Given the description of an element on the screen output the (x, y) to click on. 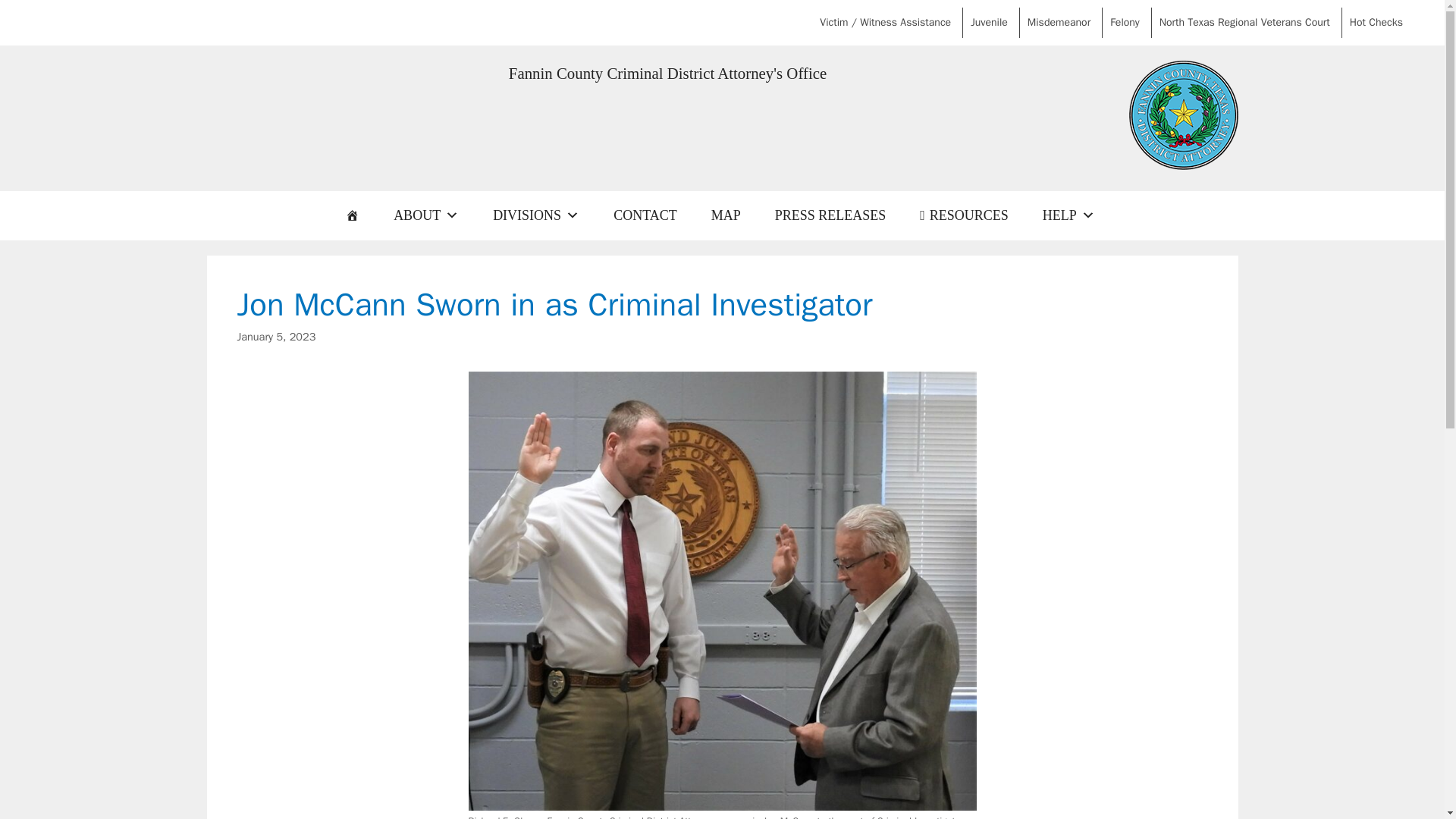
Felony (1124, 22)
DIVISIONS (535, 214)
Misdemeanor (1058, 22)
Juvenile (988, 22)
HELP (1068, 214)
Fannin County Criminal District Attorney's Office (667, 73)
RESOURCES (963, 214)
Hot Checks (1376, 22)
CONTACT (645, 214)
North Texas Regional Veterans Court (1244, 22)
MAP (725, 214)
ABOUT (426, 214)
PRESS RELEASES (830, 214)
